Given the description of an element on the screen output the (x, y) to click on. 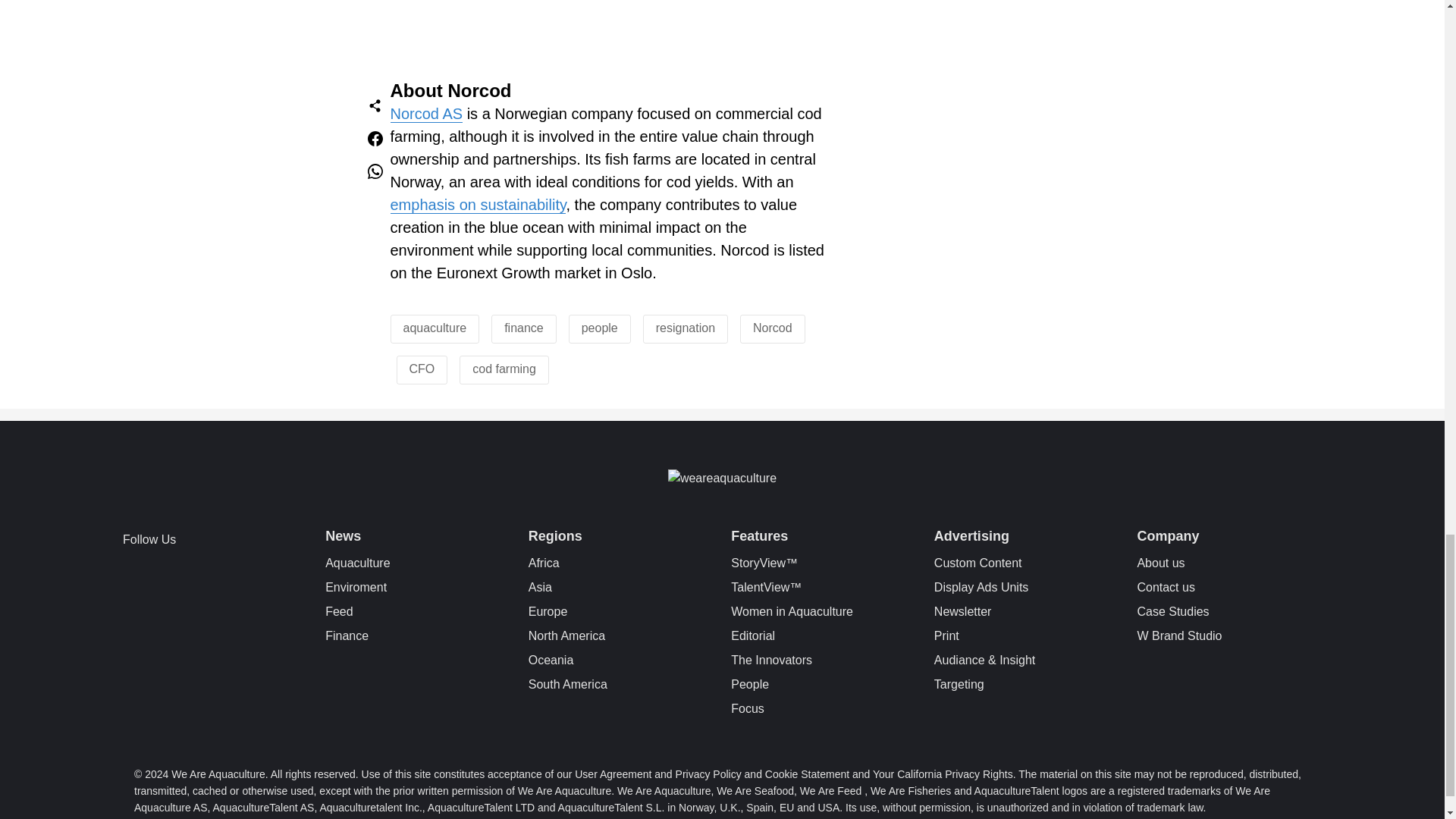
aquaculture (435, 327)
finance (523, 327)
people (598, 327)
CFO (422, 368)
Norcod (772, 327)
cod farming (503, 368)
Norcod AS (426, 113)
resignation (685, 327)
emphasis on sustainability (478, 204)
